Given the description of an element on the screen output the (x, y) to click on. 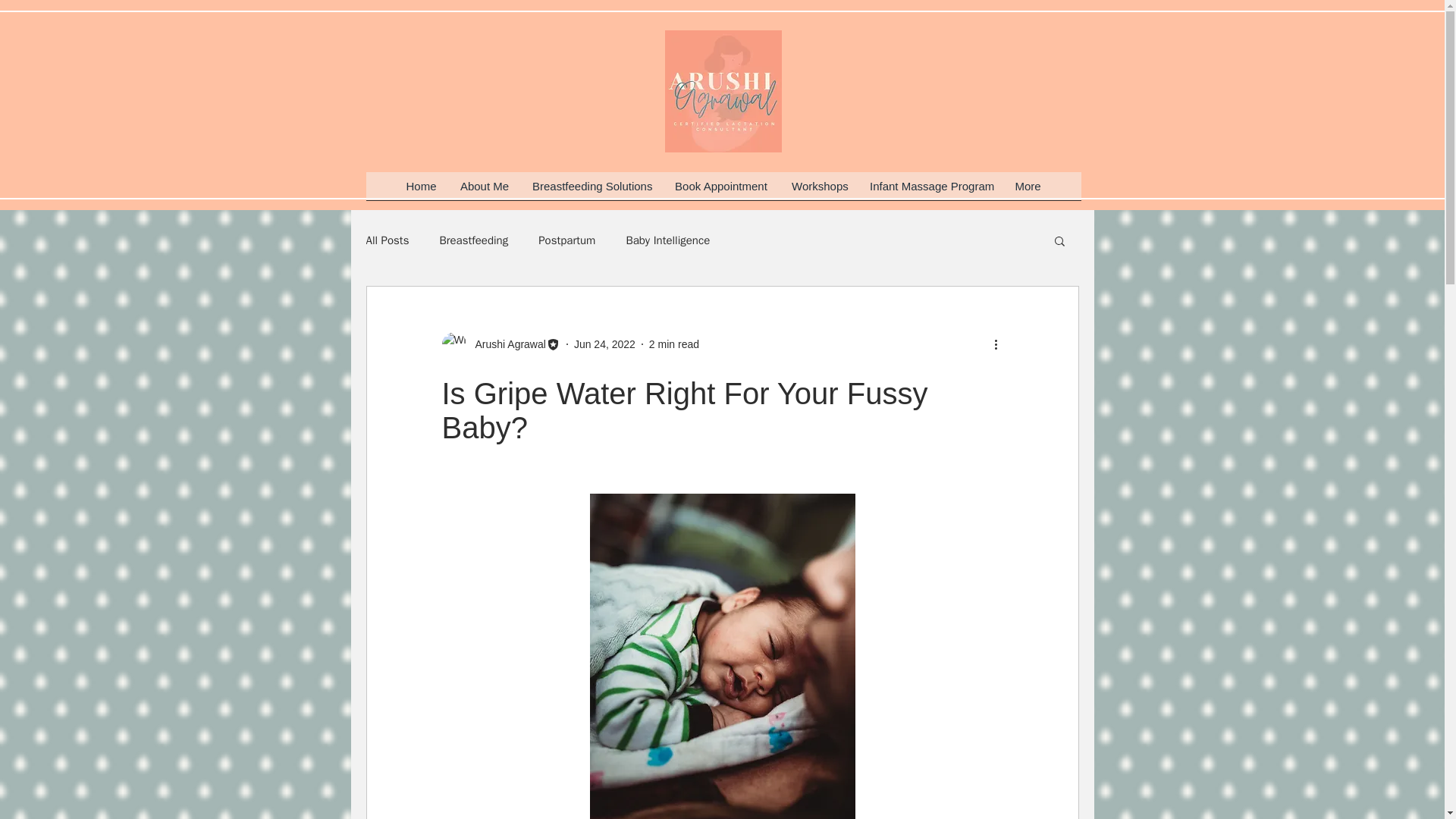
Breastfeeding (473, 240)
2 min read (673, 344)
Infant Massage Program (931, 190)
Book Appointment (721, 190)
Breastfeeding Solutions (591, 190)
Arushi Agrawal (500, 344)
All Posts (387, 240)
Jun 24, 2022 (603, 344)
About Me (484, 190)
Home (421, 190)
Arushi Agrawal (504, 344)
Baby Intelligence (668, 240)
Workshops (819, 190)
Postpartum (566, 240)
